Given the description of an element on the screen output the (x, y) to click on. 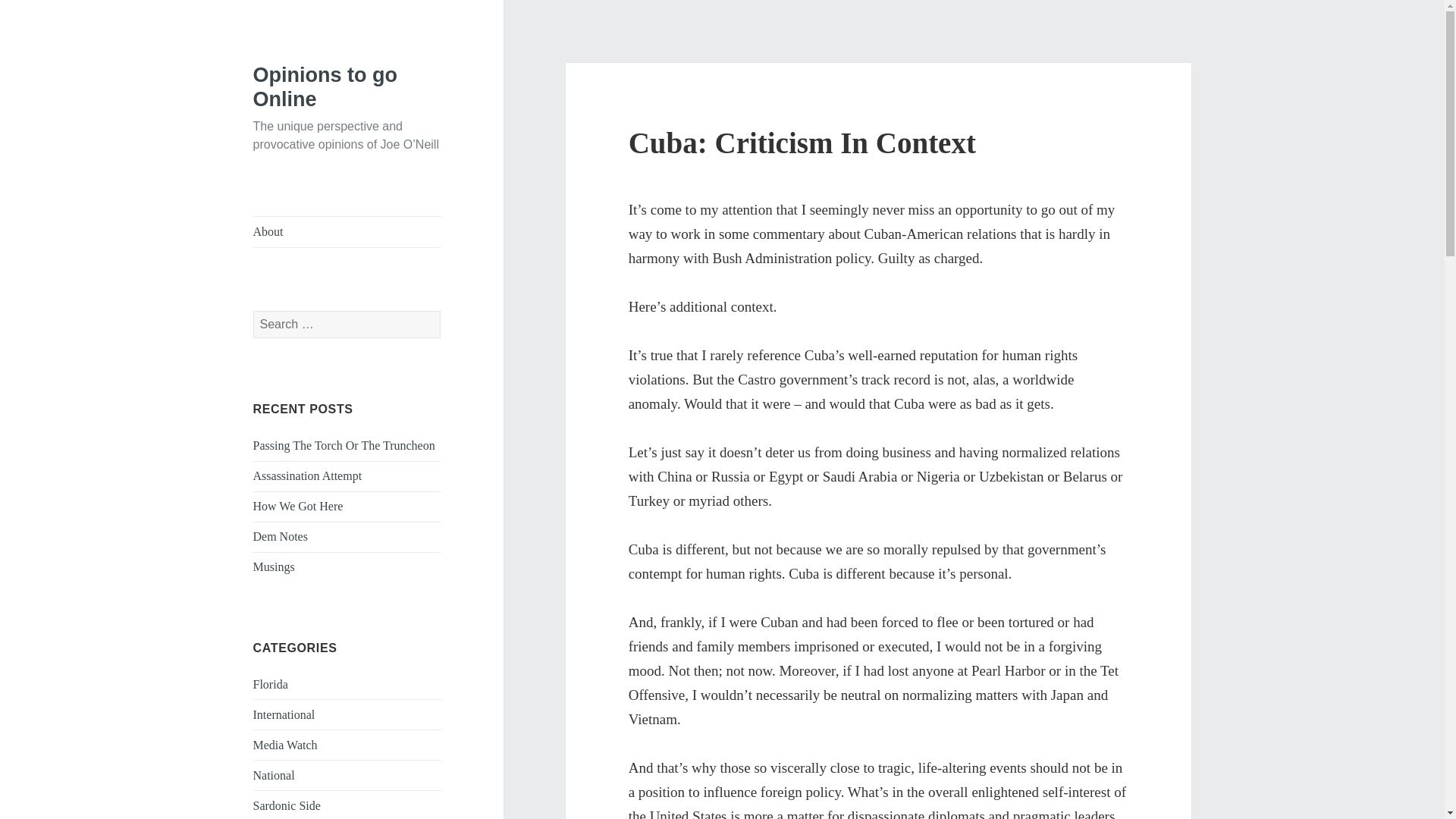
Dem Notes (280, 535)
National (274, 775)
About (347, 232)
Media Watch (285, 744)
Florida (270, 684)
Musings (274, 566)
How We Got Here (298, 505)
